Given the description of an element on the screen output the (x, y) to click on. 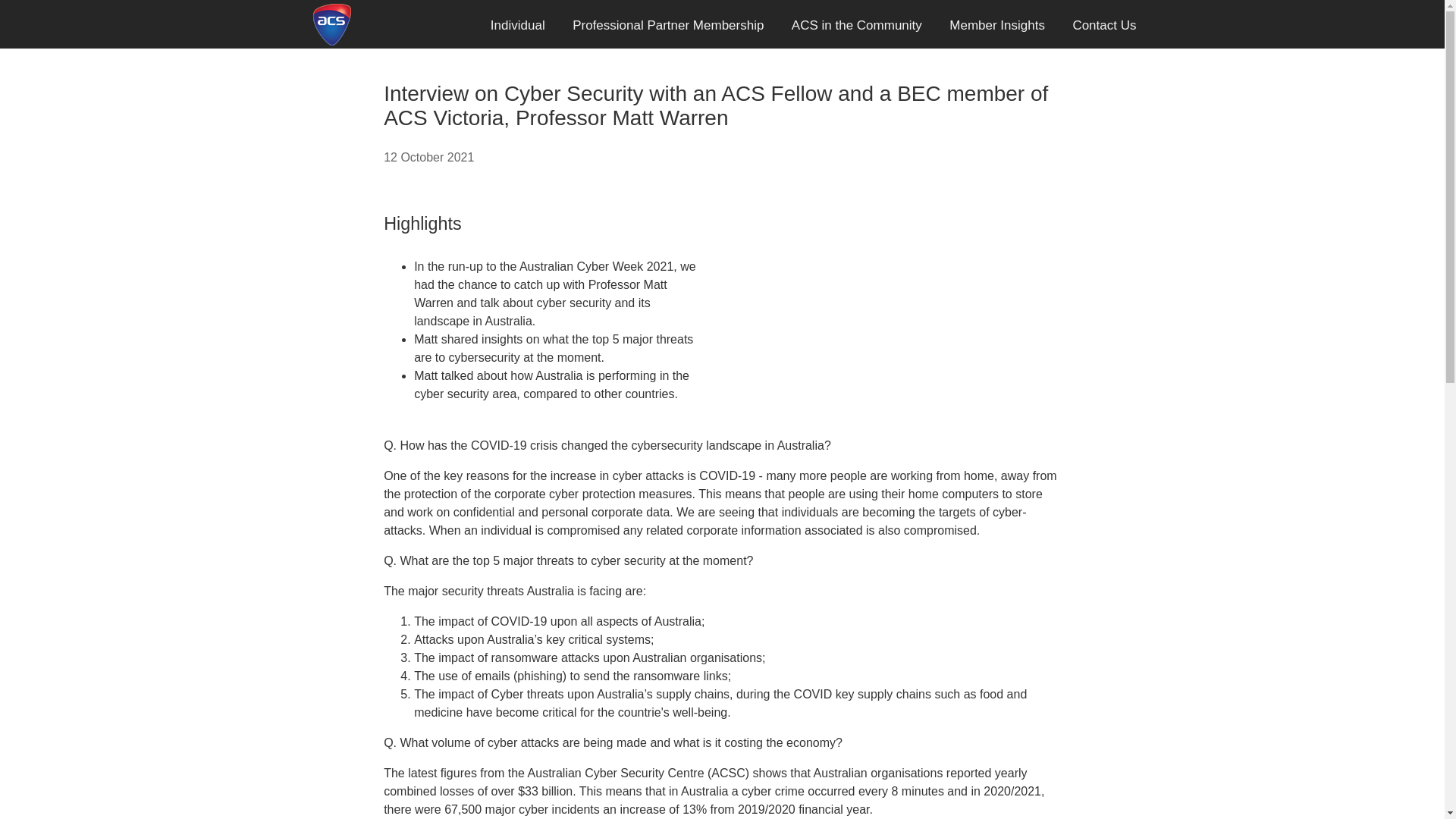
Contact Us (1103, 25)
Member Insights (997, 25)
Individual (518, 25)
ACS in the Community (856, 25)
Professional Partner Membership (668, 25)
